Given the description of an element on the screen output the (x, y) to click on. 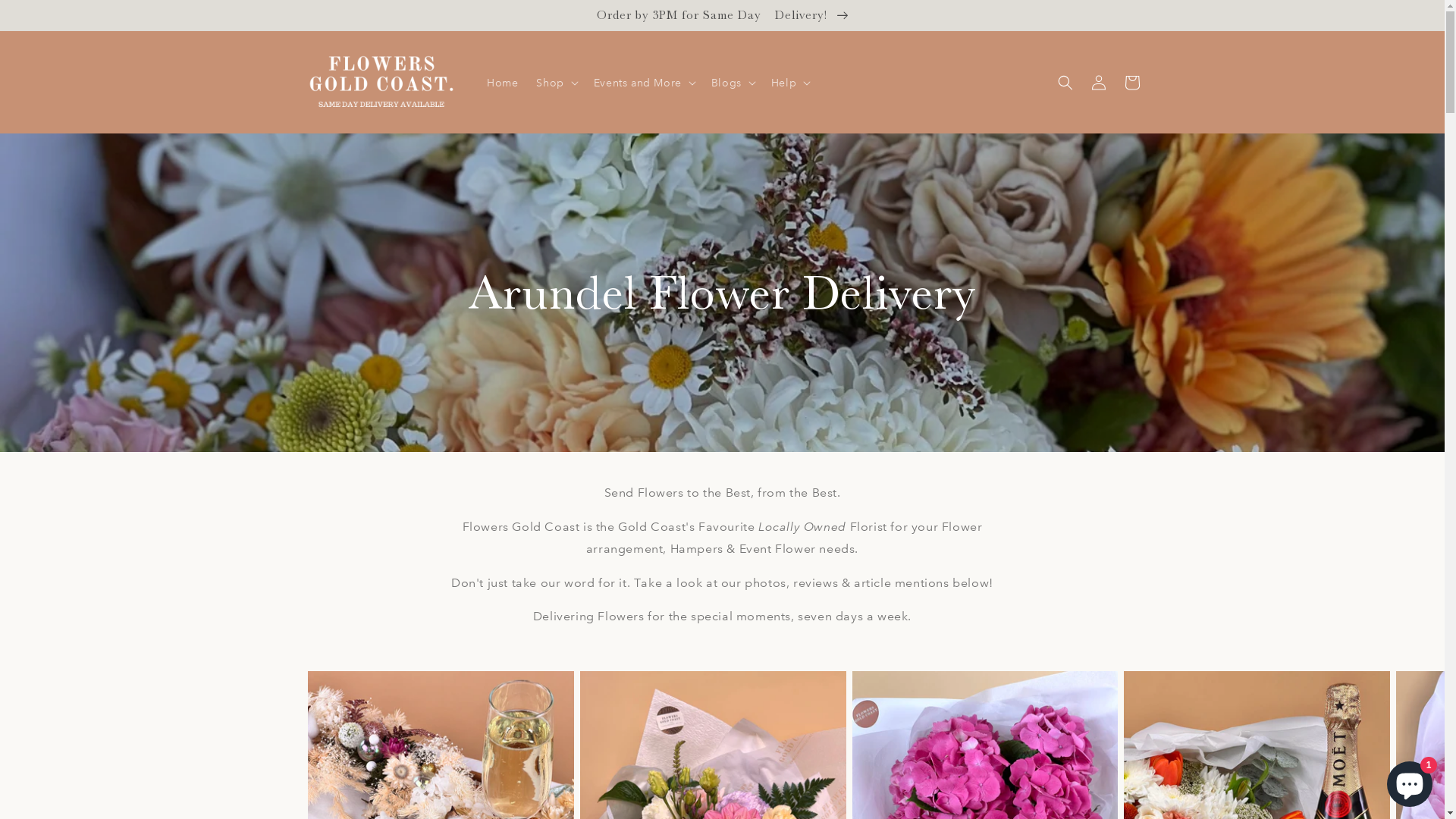
Log in Element type: text (1097, 82)
Cart Element type: text (1131, 82)
Home Element type: text (502, 82)
Shopify online store chat Element type: hover (1409, 780)
